Given the description of an element on the screen output the (x, y) to click on. 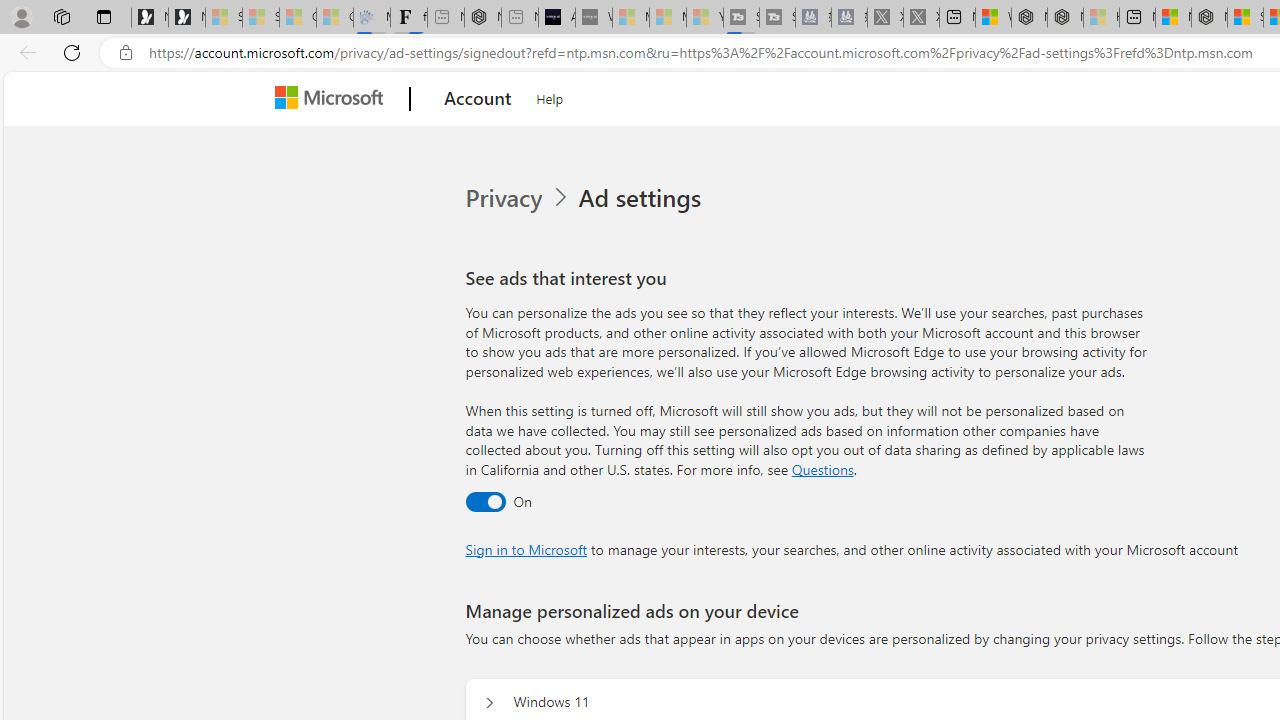
Newsletter Sign Up (186, 17)
Microsoft Start Sports - Sleeping (630, 17)
Help (550, 96)
What's the best AI voice generator? - voice.ai - Sleeping (593, 17)
